Given the description of an element on the screen output the (x, y) to click on. 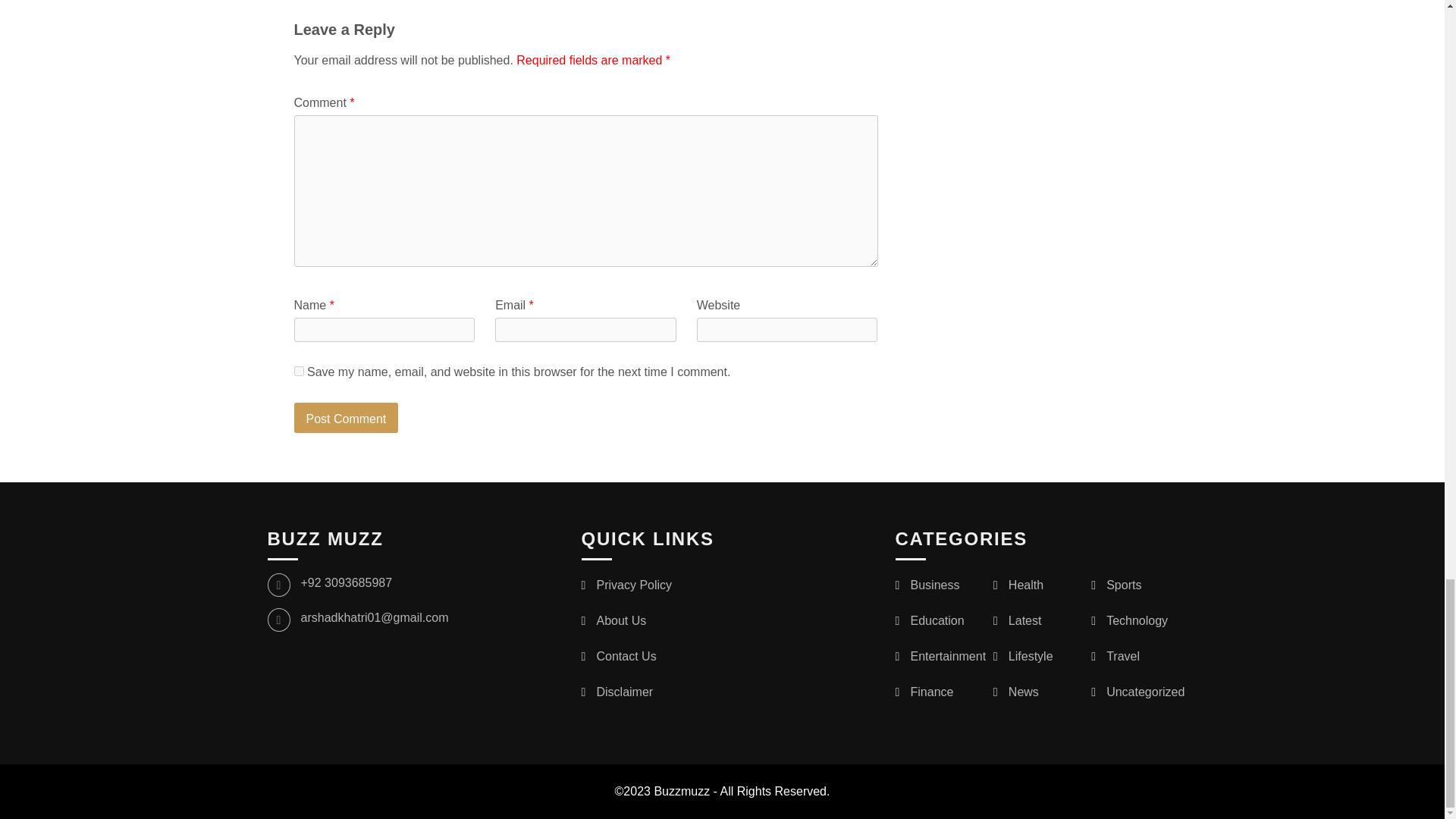
Privacy Policy (633, 584)
Post Comment (346, 417)
Post Comment (346, 417)
yes (299, 370)
